Given the description of an element on the screen output the (x, y) to click on. 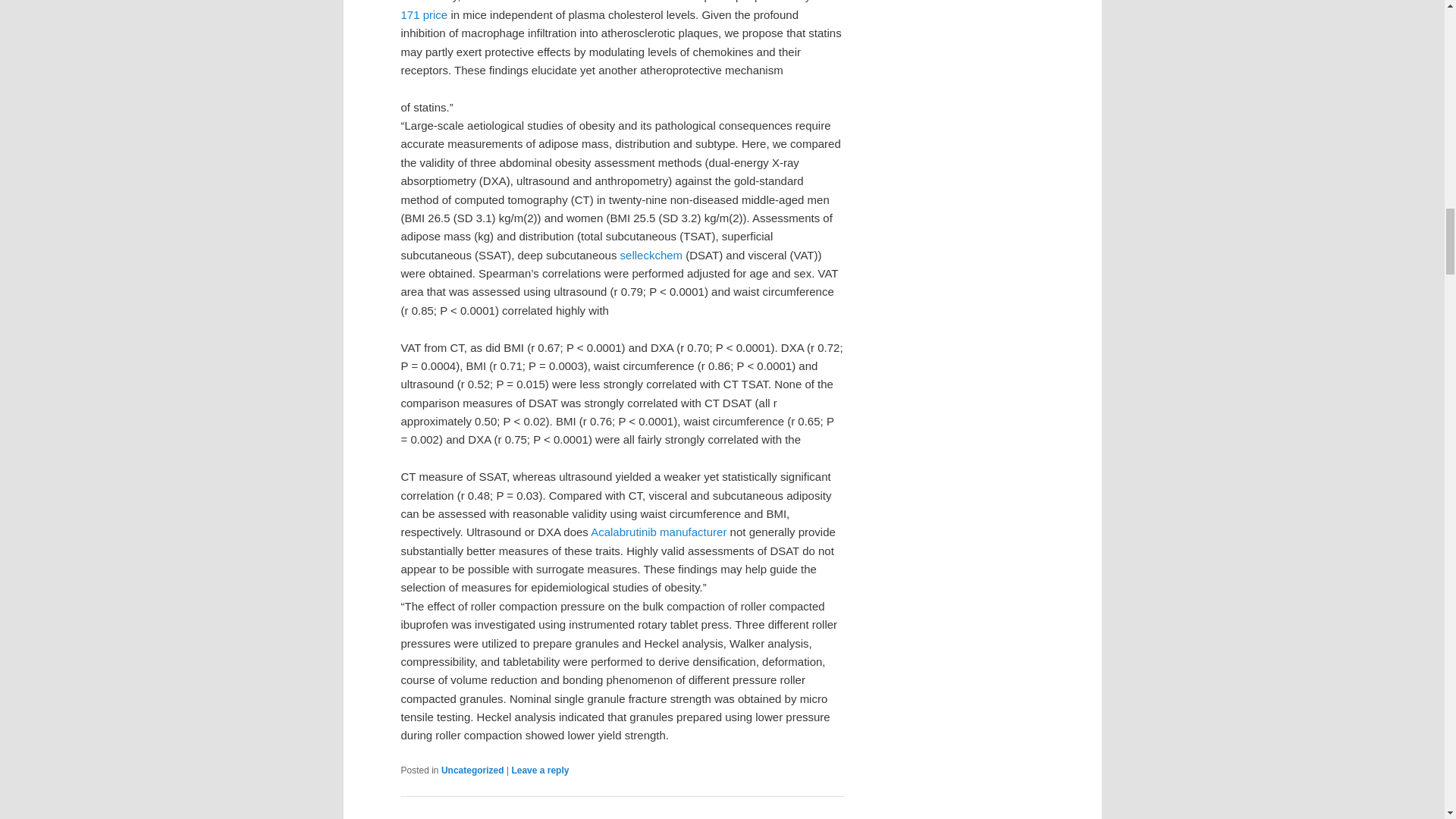
selleckchem (651, 254)
Acalabrutinib manufacturer (658, 531)
PR-171 price (616, 10)
Uncategorized (472, 769)
